Given the description of an element on the screen output the (x, y) to click on. 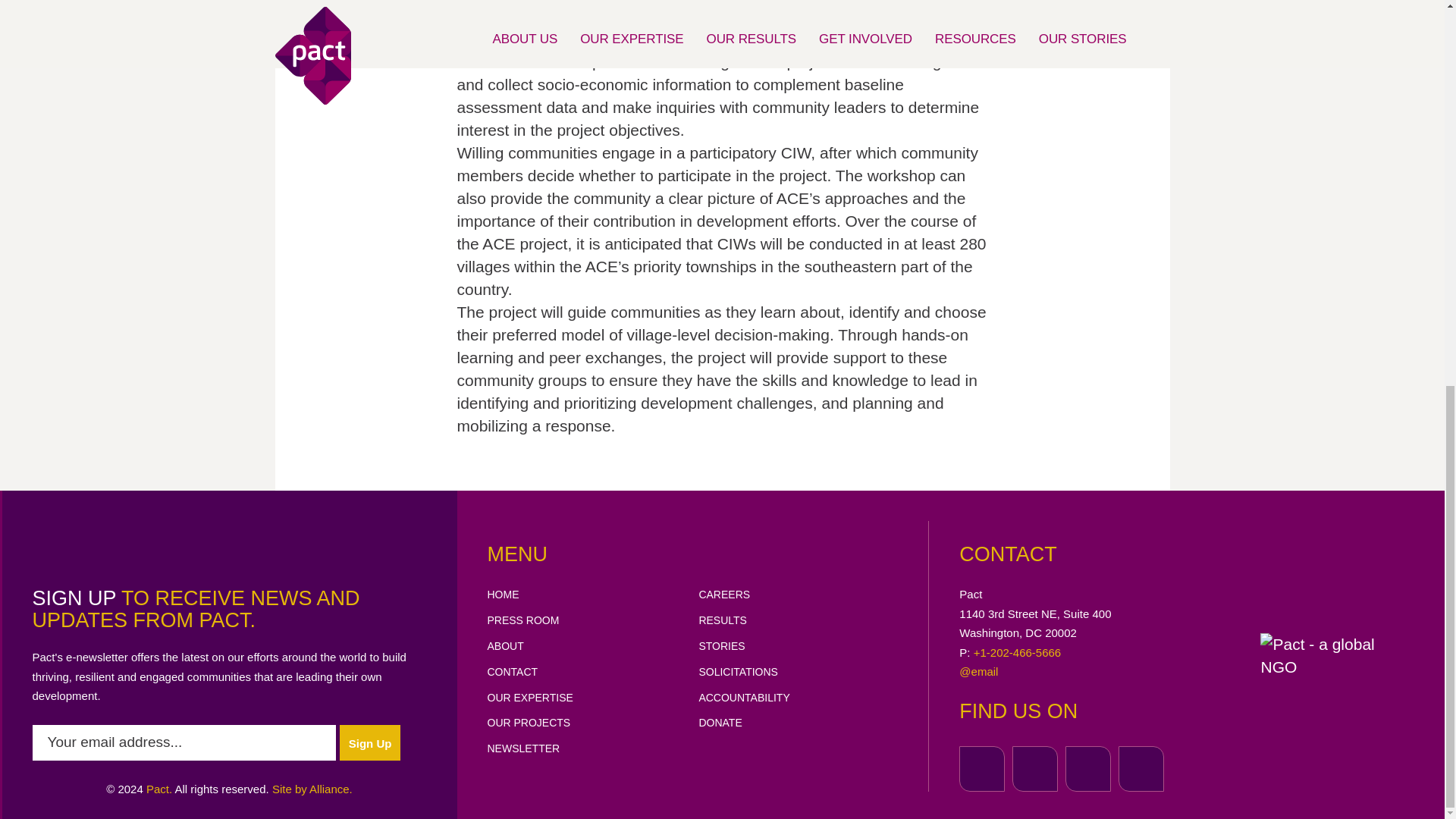
Sign Up (369, 742)
Pact. (159, 788)
Site by Alliance. (312, 788)
Sign Up (369, 742)
